Given the description of an element on the screen output the (x, y) to click on. 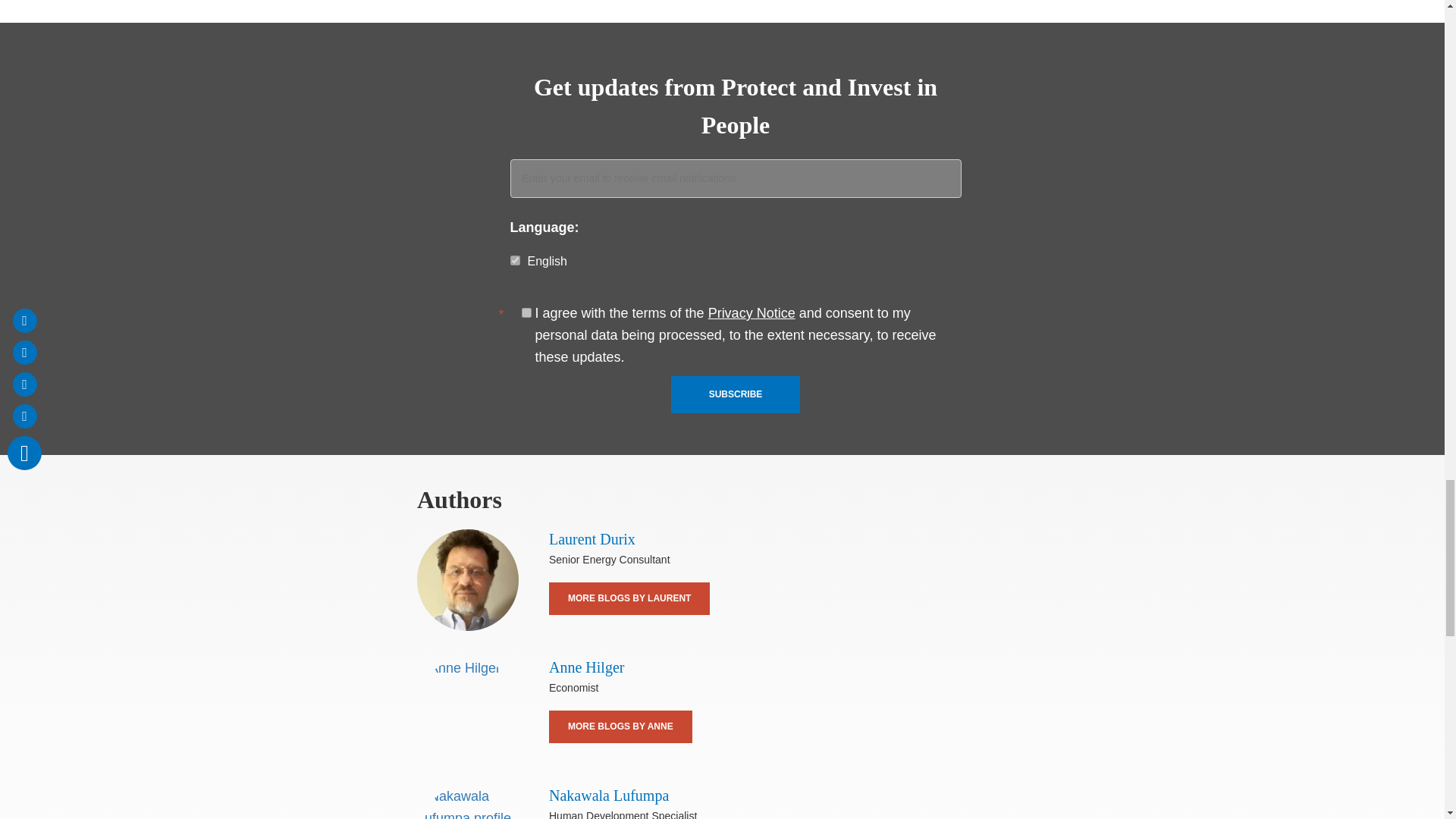
Privacy Notice (750, 313)
Nakawala Lufumpa profile picture (467, 802)
Anne Hilger (467, 708)
1 (526, 312)
Anne Hilger (586, 667)
Laurent Durix (591, 538)
en (514, 260)
SUBSCRIBE (735, 394)
MORE BLOGS BY LAURENT (629, 598)
Laurent Durix profile picture (467, 579)
